Given the description of an element on the screen output the (x, y) to click on. 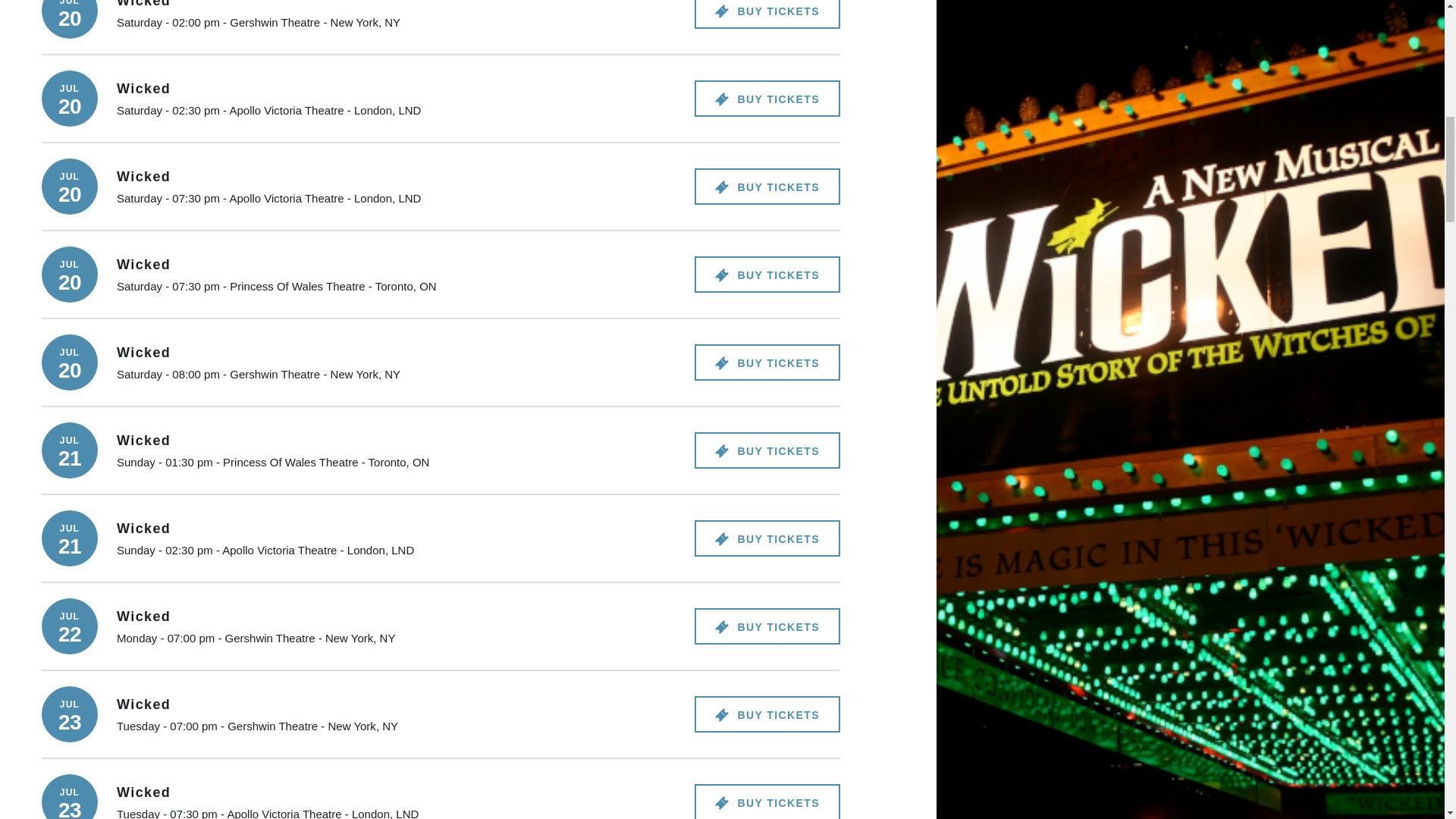
BUY TICKETS (767, 14)
BUY TICKETS (767, 538)
BUY TICKETS (767, 186)
BUY TICKETS (767, 98)
BUY TICKETS (767, 450)
BUY TICKETS (767, 361)
BUY TICKETS (767, 274)
BUY TICKETS (767, 626)
